Given the description of an element on the screen output the (x, y) to click on. 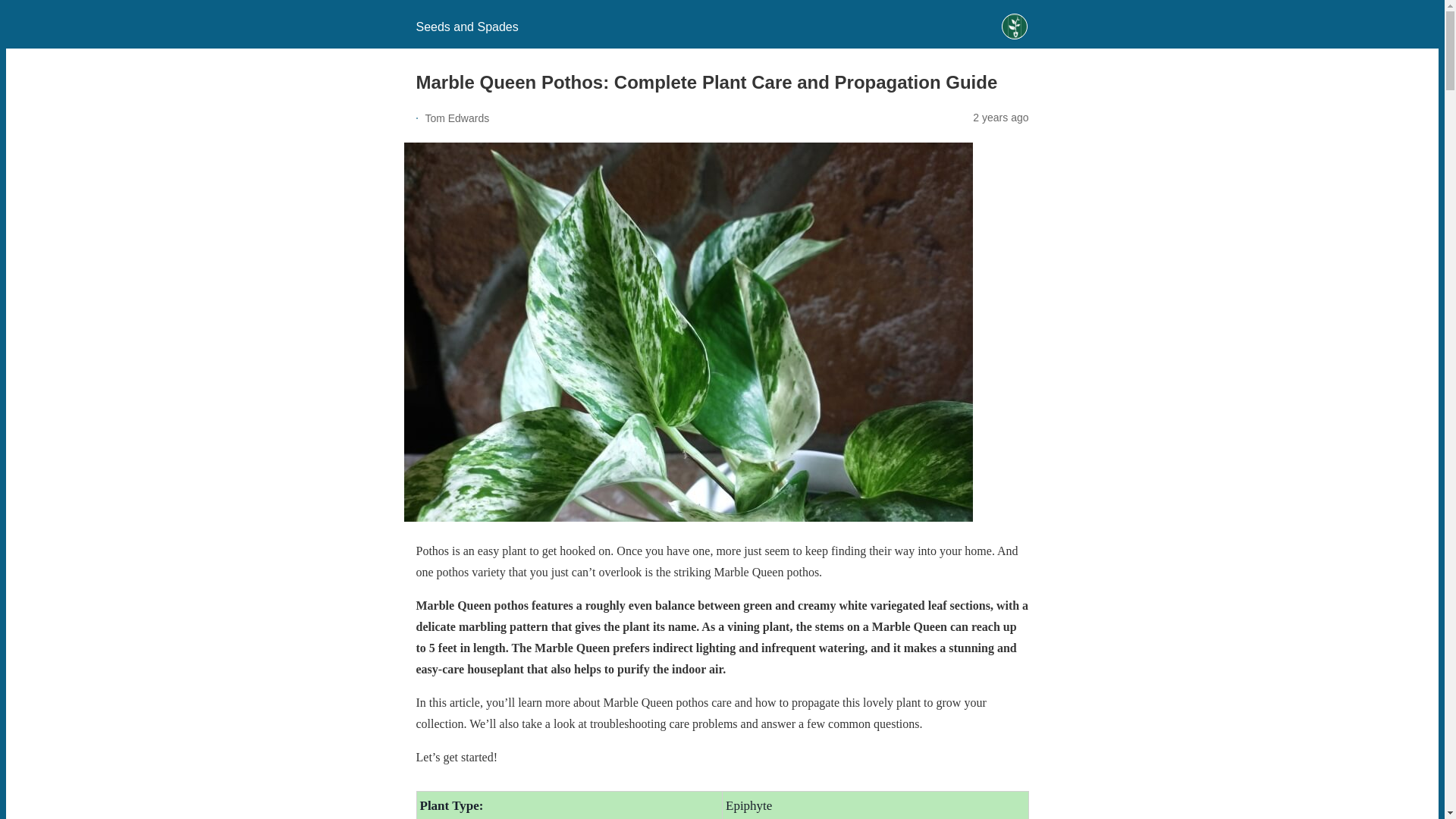
Seeds and Spades (466, 26)
